Given the description of an element on the screen output the (x, y) to click on. 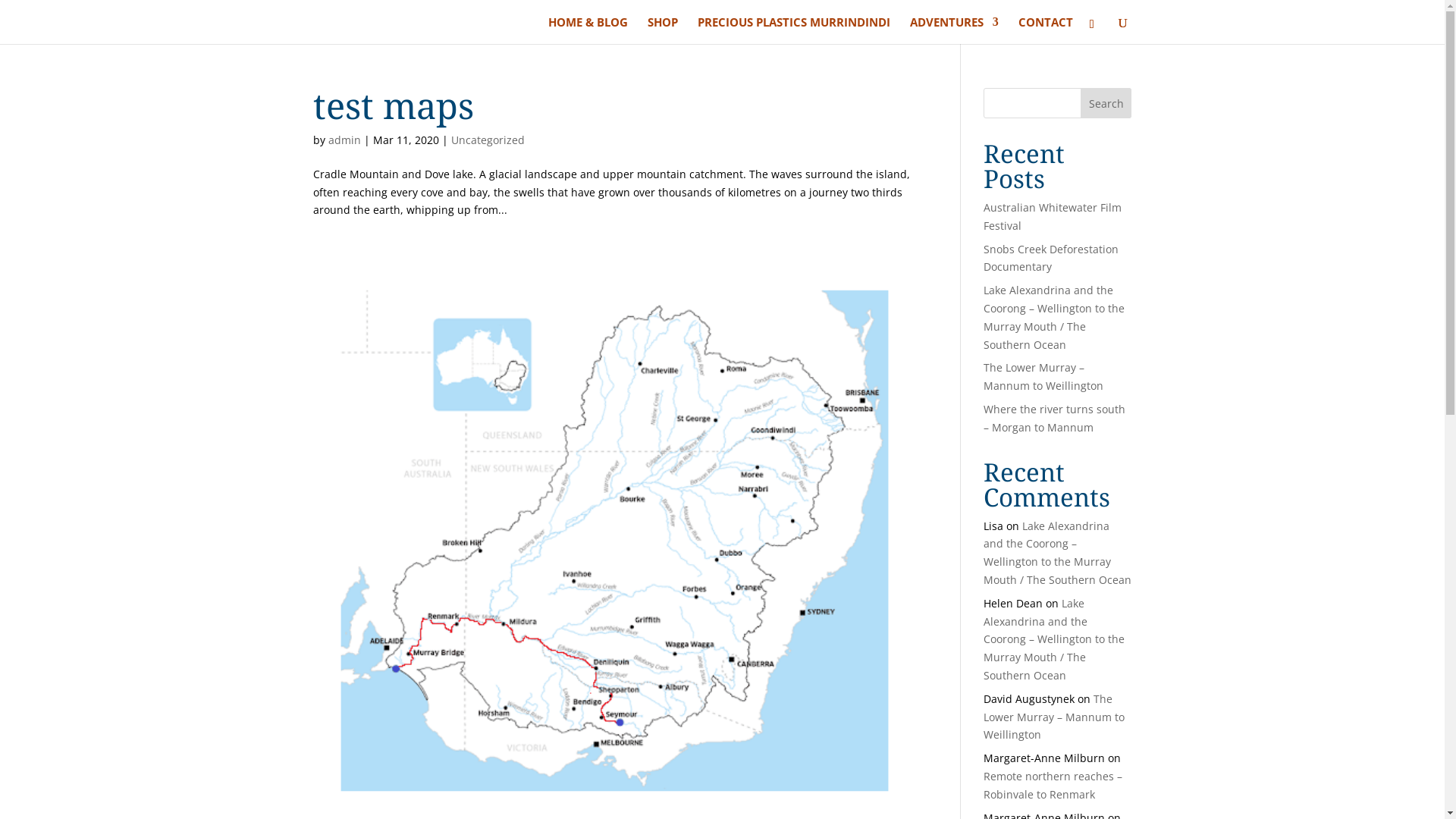
SHOP Element type: text (662, 29)
HOME & BLOG Element type: text (587, 29)
ADVENTURES Element type: text (954, 29)
PRECIOUS PLASTICS MURRINDINDI Element type: text (793, 29)
Uncategorized Element type: text (487, 139)
admin Element type: text (343, 139)
Snobs Creek Deforestation Documentary Element type: text (1050, 257)
CONTACT Element type: text (1045, 29)
Australian Whitewater Film Festival Element type: text (1052, 216)
test maps Element type: text (392, 105)
Search Element type: text (1106, 102)
